Given the description of an element on the screen output the (x, y) to click on. 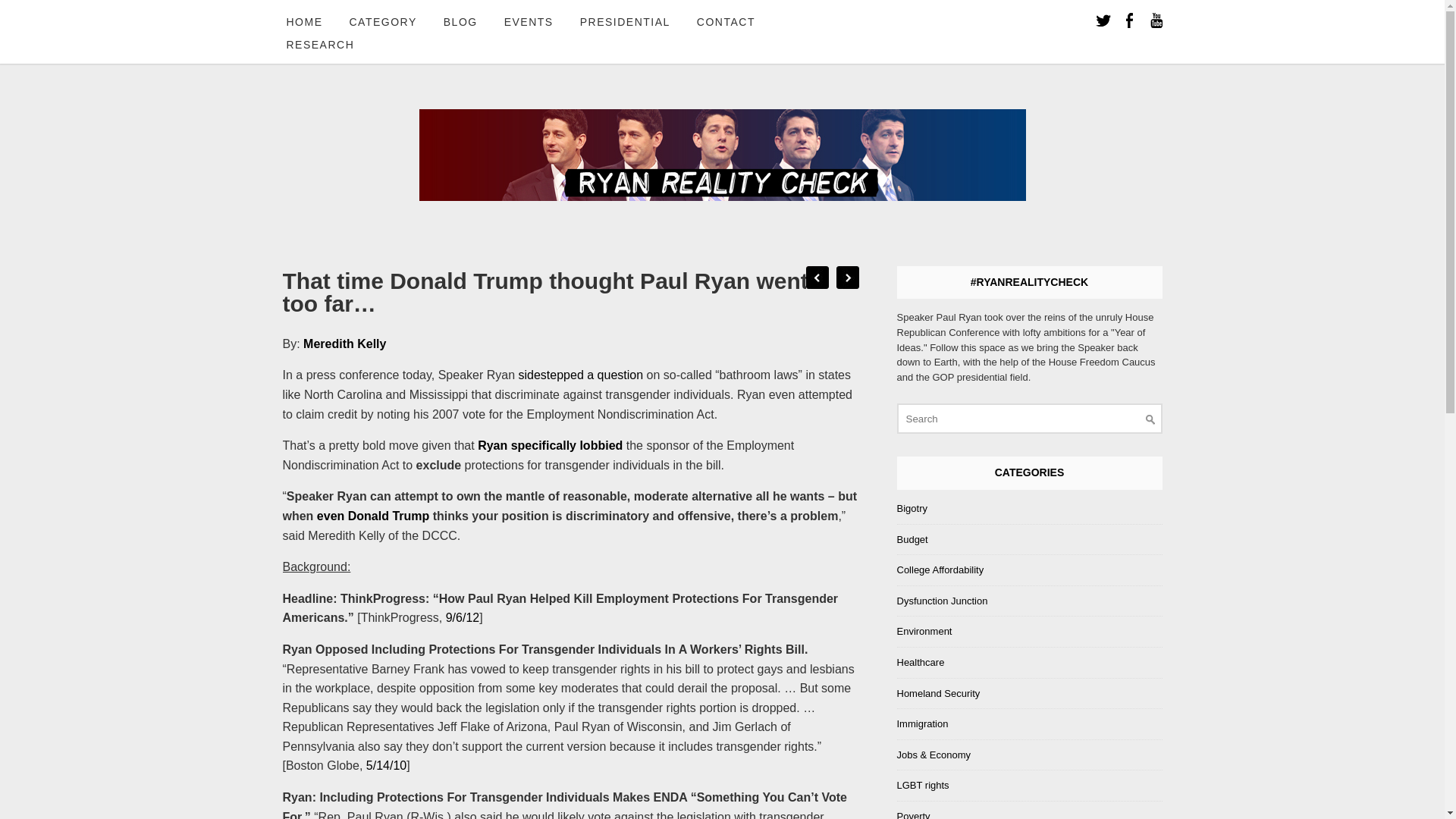
CATEGORY (382, 22)
CONTACT (726, 22)
HOME (304, 22)
BLOG (460, 22)
PRESIDENTIAL (625, 22)
RESEARCH (320, 45)
EVENTS (528, 22)
